Given the description of an element on the screen output the (x, y) to click on. 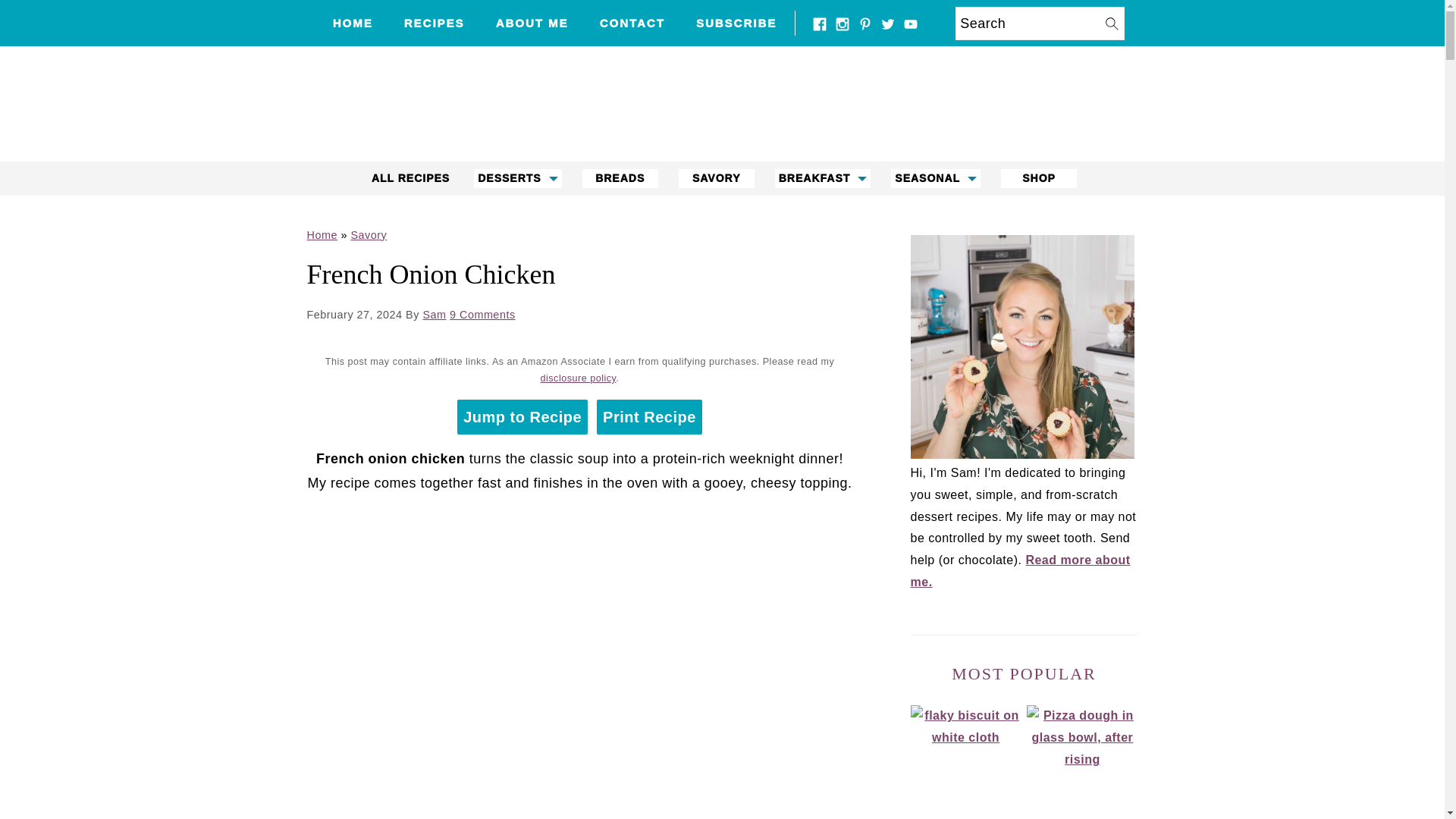
DESSERTS (517, 178)
The Best Pizza Dough Recipe (1081, 760)
ALL RECIPES (410, 178)
BREAKFAST (822, 178)
Easy Homemade Biscuits (965, 760)
Sugar Spun Run (722, 148)
SEASONAL (935, 178)
SHOP (1039, 178)
CONTACT (632, 22)
SAVORY (716, 178)
